Given the description of an element on the screen output the (x, y) to click on. 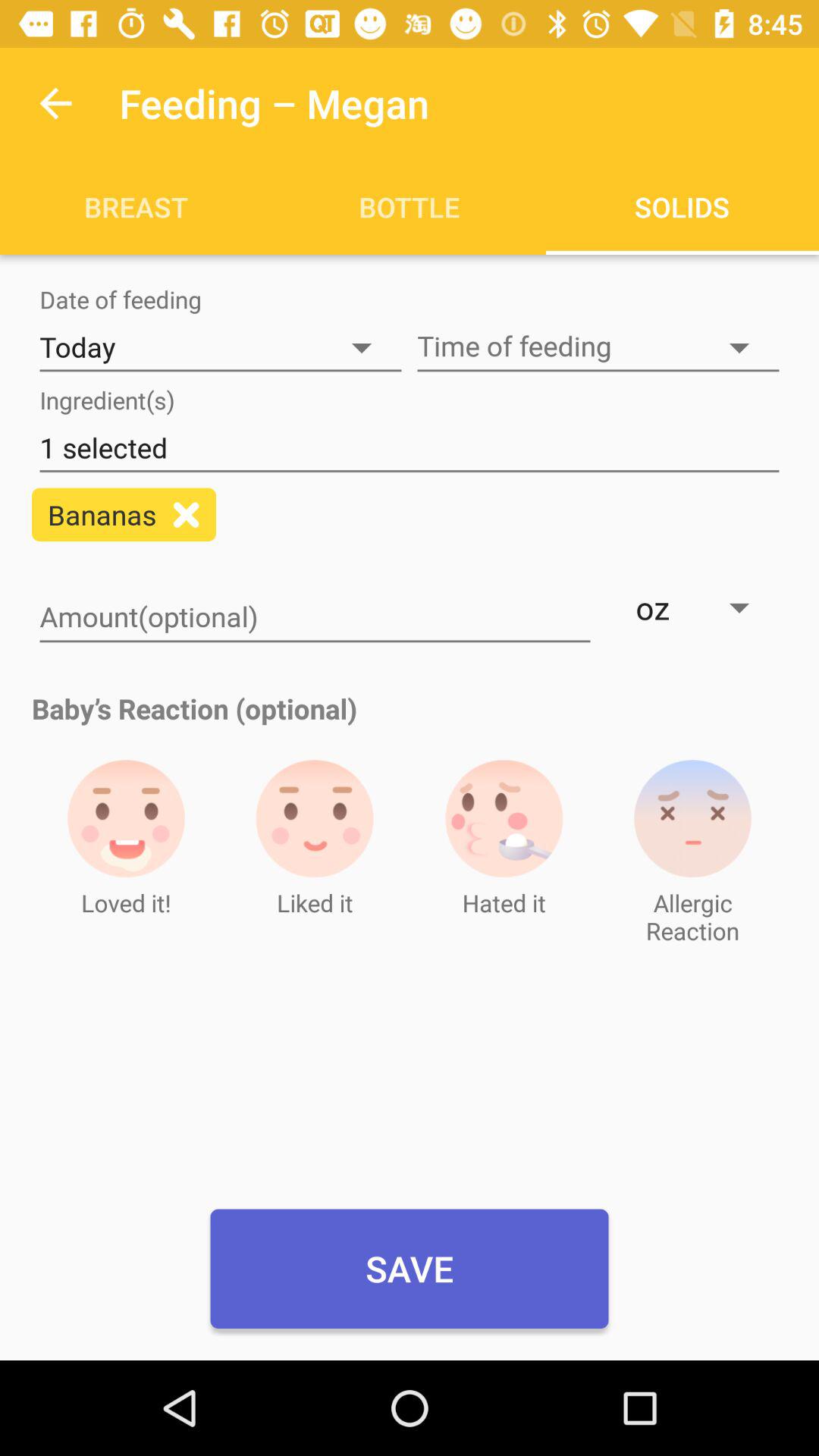
close option (186, 514)
